Given the description of an element on the screen output the (x, y) to click on. 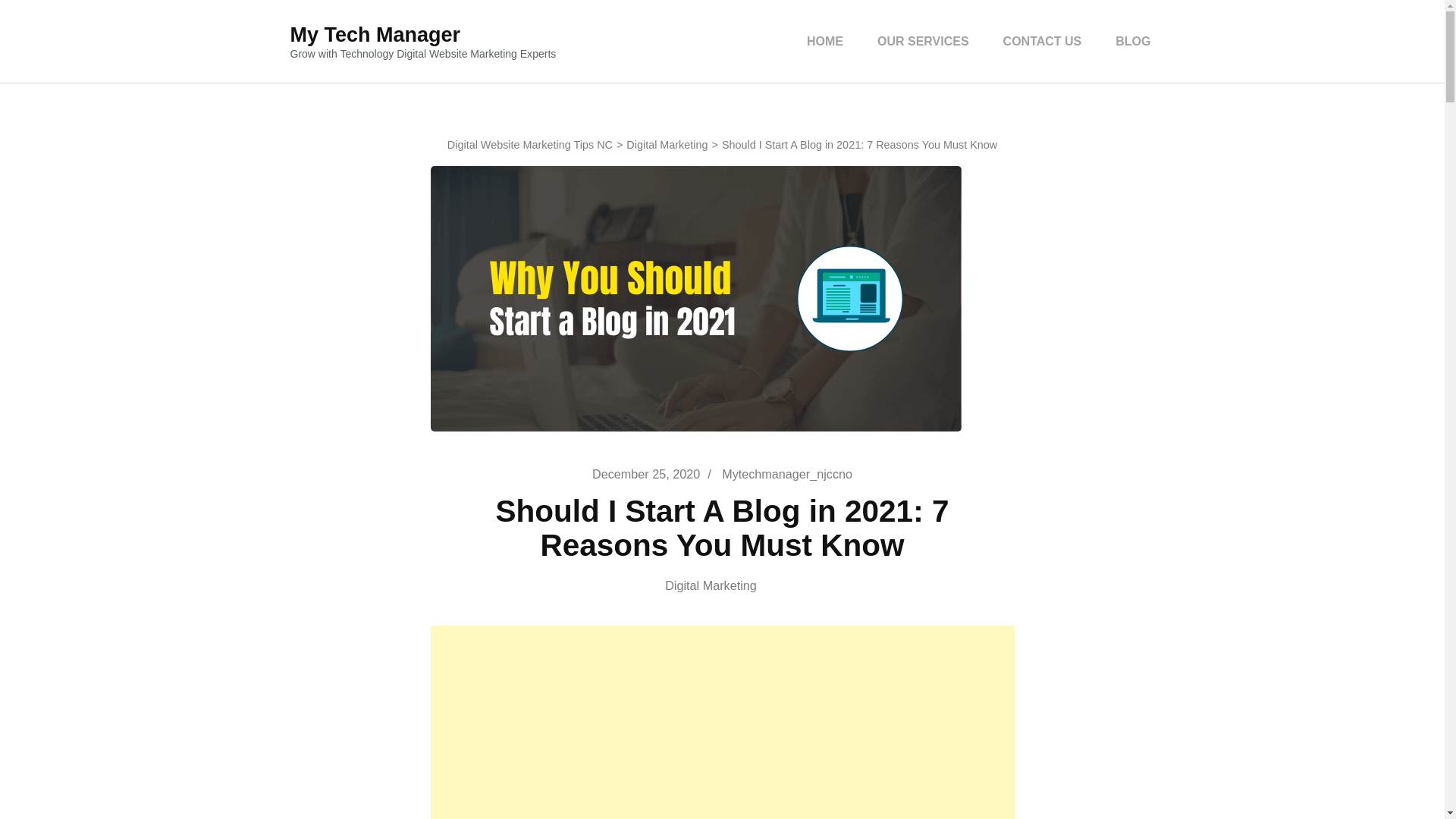
My Tech Manager (374, 34)
OUR SERVICES (922, 41)
Advertisement (722, 722)
December 25, 2020 (646, 473)
Digital Marketing (721, 585)
HOME (825, 41)
Digital Website Marketing Tips NC (529, 144)
BLOG (1133, 41)
Digital Marketing (666, 144)
CONTACT US (1042, 41)
